Given the description of an element on the screen output the (x, y) to click on. 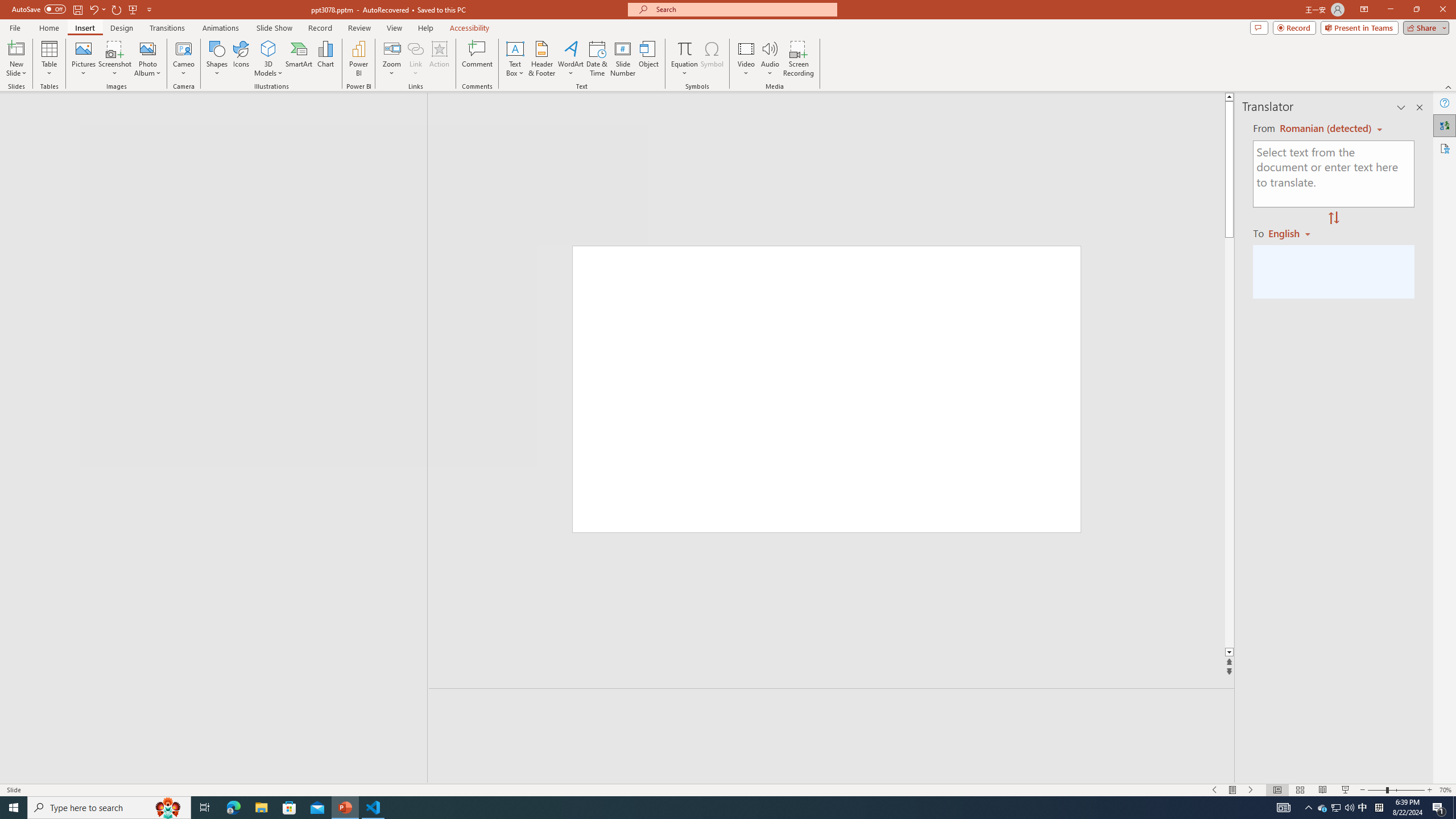
Zoom 70% (1445, 790)
